Given the description of an element on the screen output the (x, y) to click on. 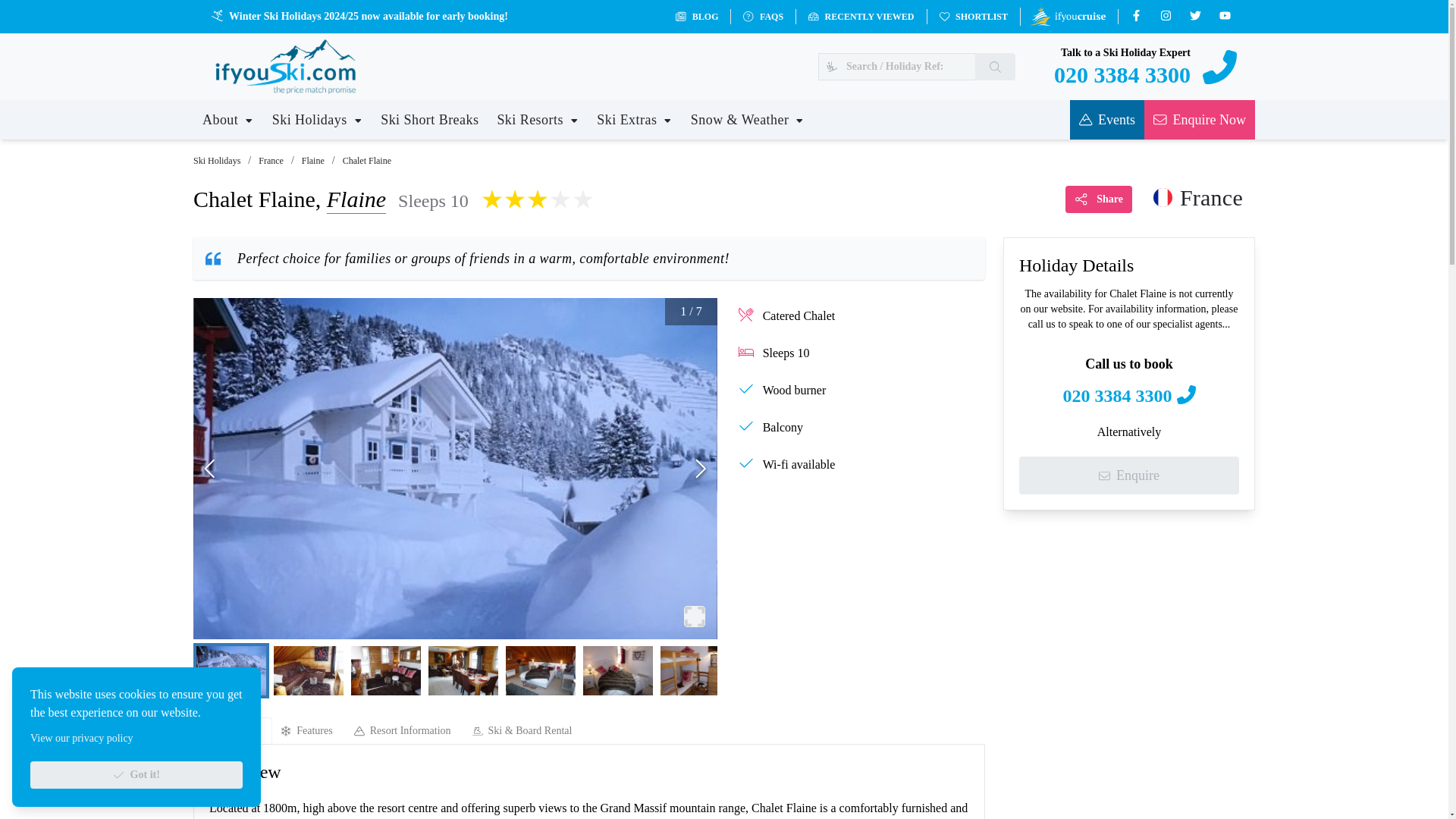
FAQS (756, 16)
BLOG (690, 16)
Essential extras for your holiday... (634, 119)
Get the latest snow reports and weather... (747, 119)
Ski Resorts (537, 119)
Privacy Policy (81, 737)
Ski Holidays (317, 119)
RECENTLY VIEWED (854, 16)
About ifyouski.com (227, 119)
SHORTLIST (966, 16)
